Given the description of an element on the screen output the (x, y) to click on. 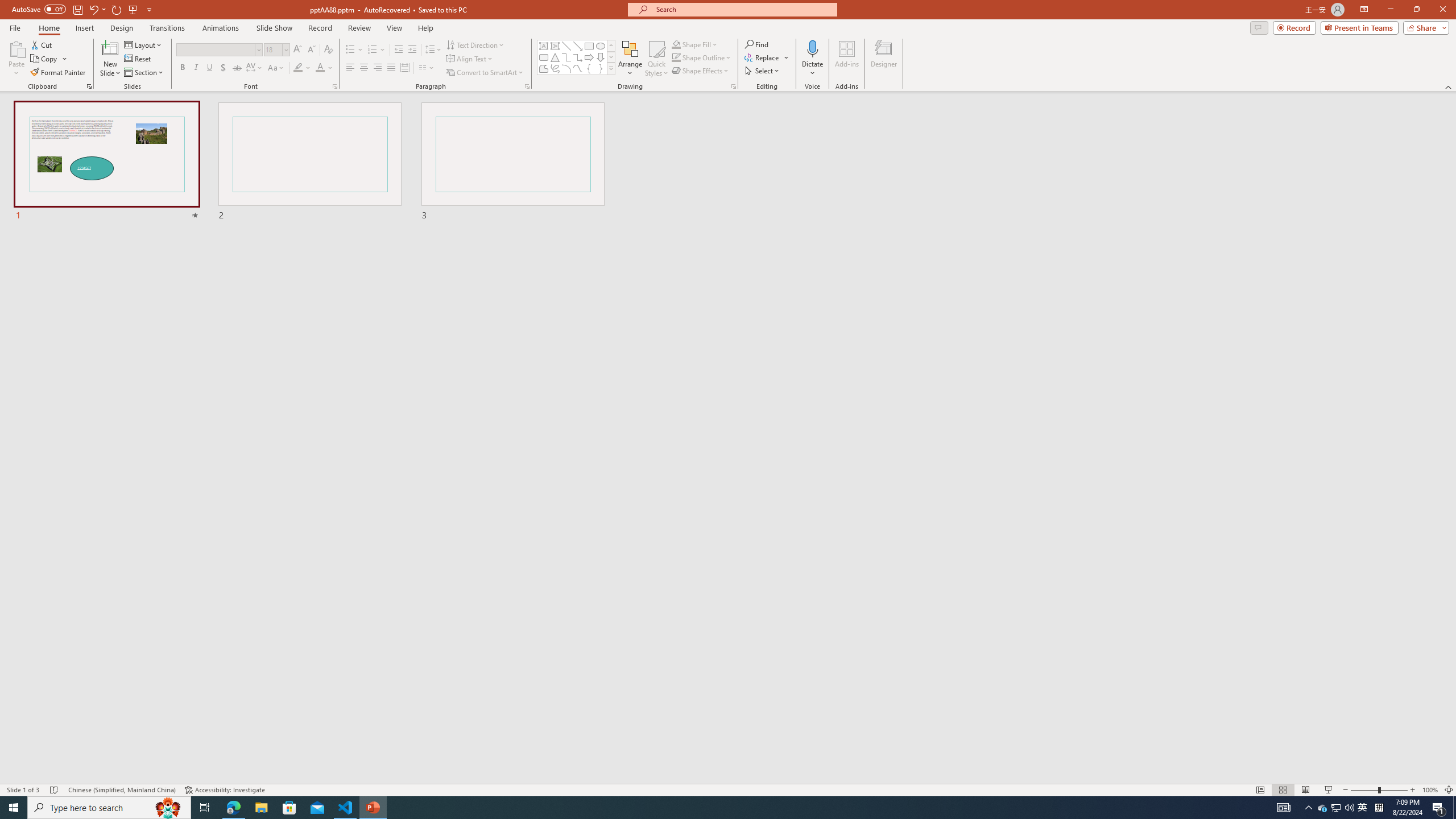
Line Arrow (577, 45)
Curve (577, 68)
Zoom (1379, 790)
Arrow: Right (589, 57)
Close (1442, 9)
Dictate (812, 58)
Rectangle: Rounded Corners (543, 57)
Save (77, 9)
Zoom 100% (1430, 790)
Designer (883, 58)
Layout (143, 44)
Line Spacing (433, 49)
Paste (16, 48)
